Given the description of an element on the screen output the (x, y) to click on. 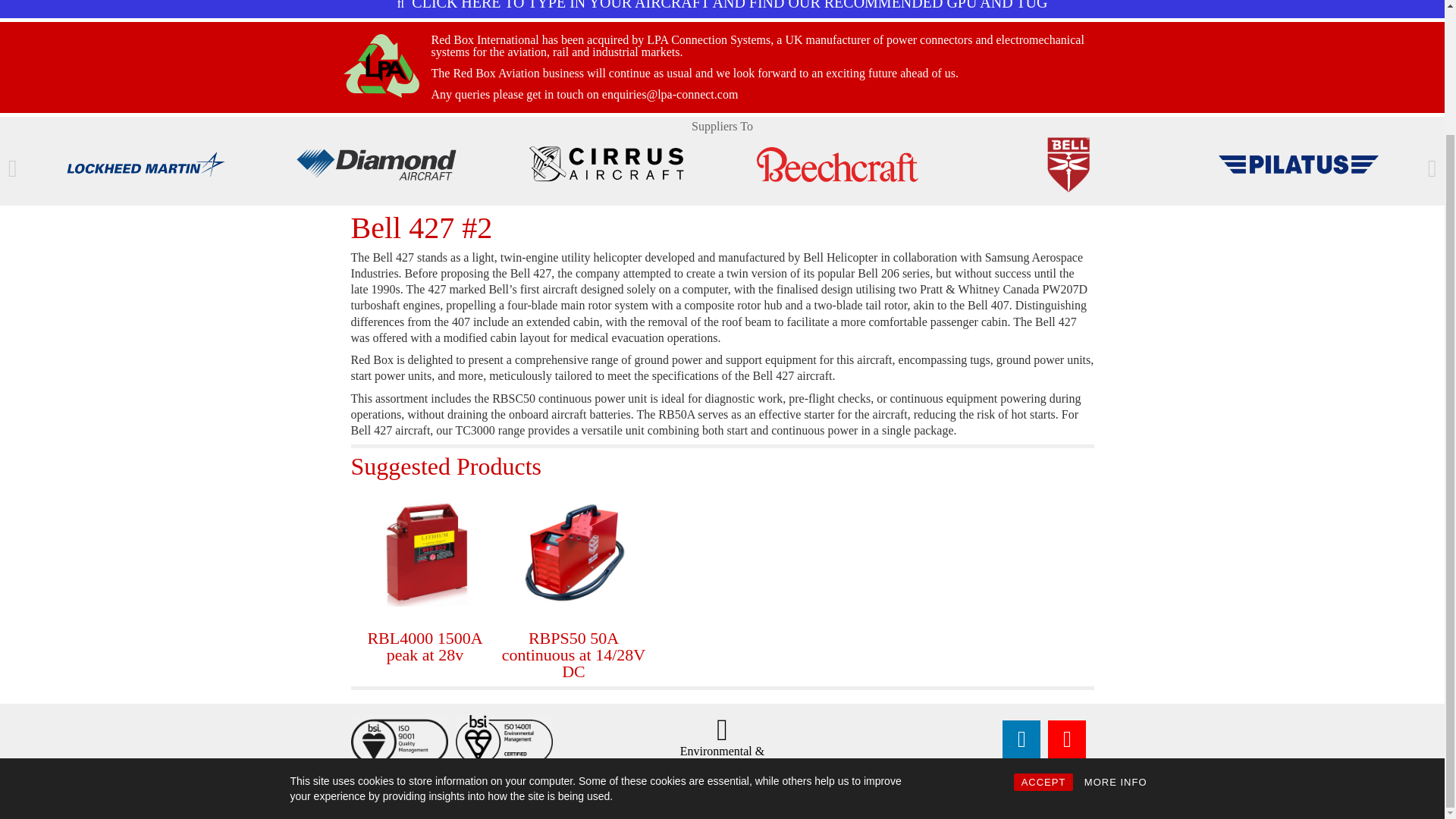
ACCEPT (1043, 630)
MORE INFO (1115, 630)
RBL4000 1500A peak at 28v (424, 553)
